Given the description of an element on the screen output the (x, y) to click on. 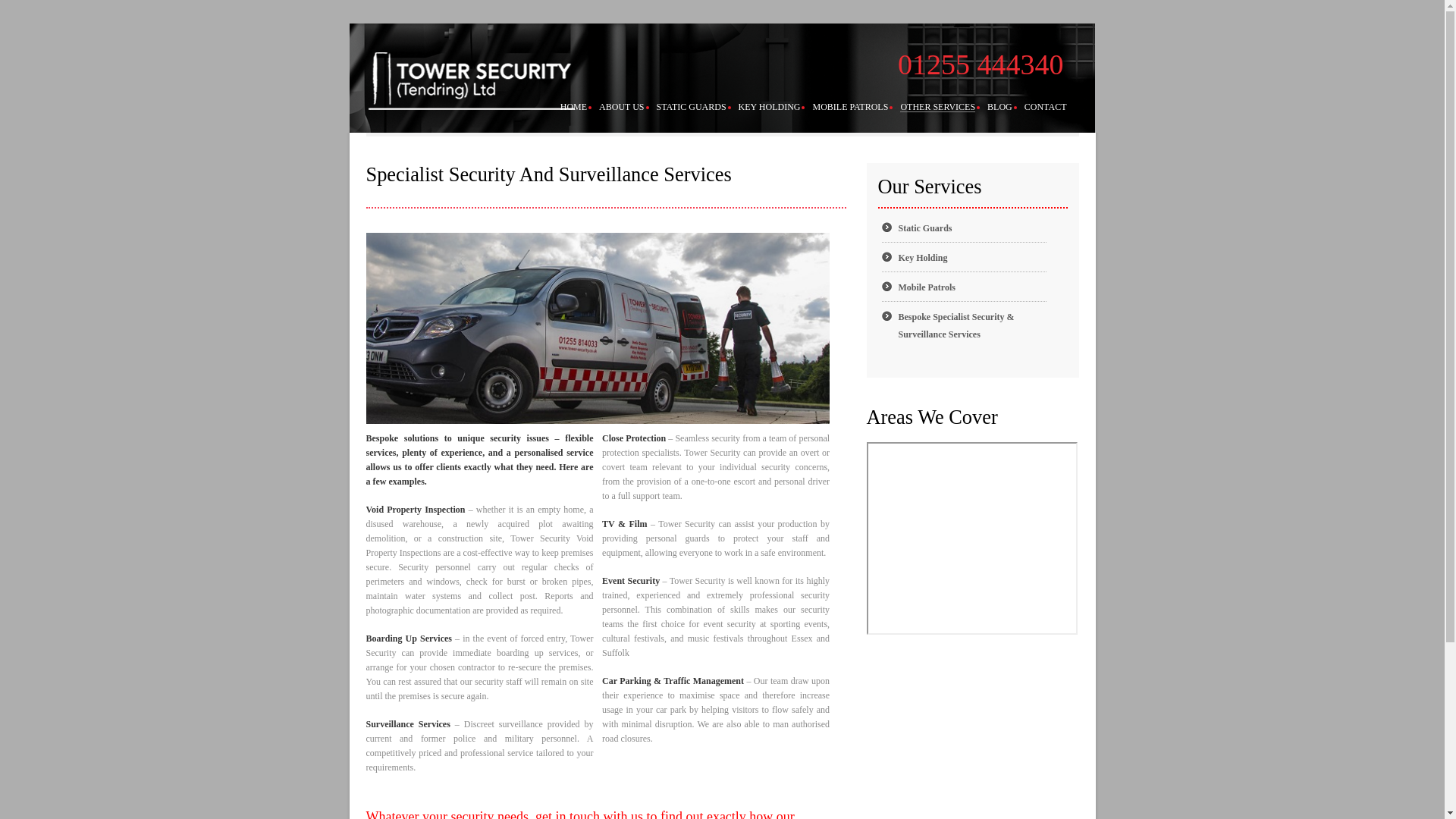
KEY HOLDING (769, 106)
CONTACT (1046, 106)
Mobile Patrols (926, 286)
STATIC GUARDS (691, 106)
BLOG (999, 106)
OTHER SERVICES (937, 107)
HOME (573, 106)
Key Holding (922, 257)
MOBILE PATROLS (850, 106)
01255 444340 (981, 64)
Static Guards (925, 227)
ABOUT US (620, 106)
